Given the description of an element on the screen output the (x, y) to click on. 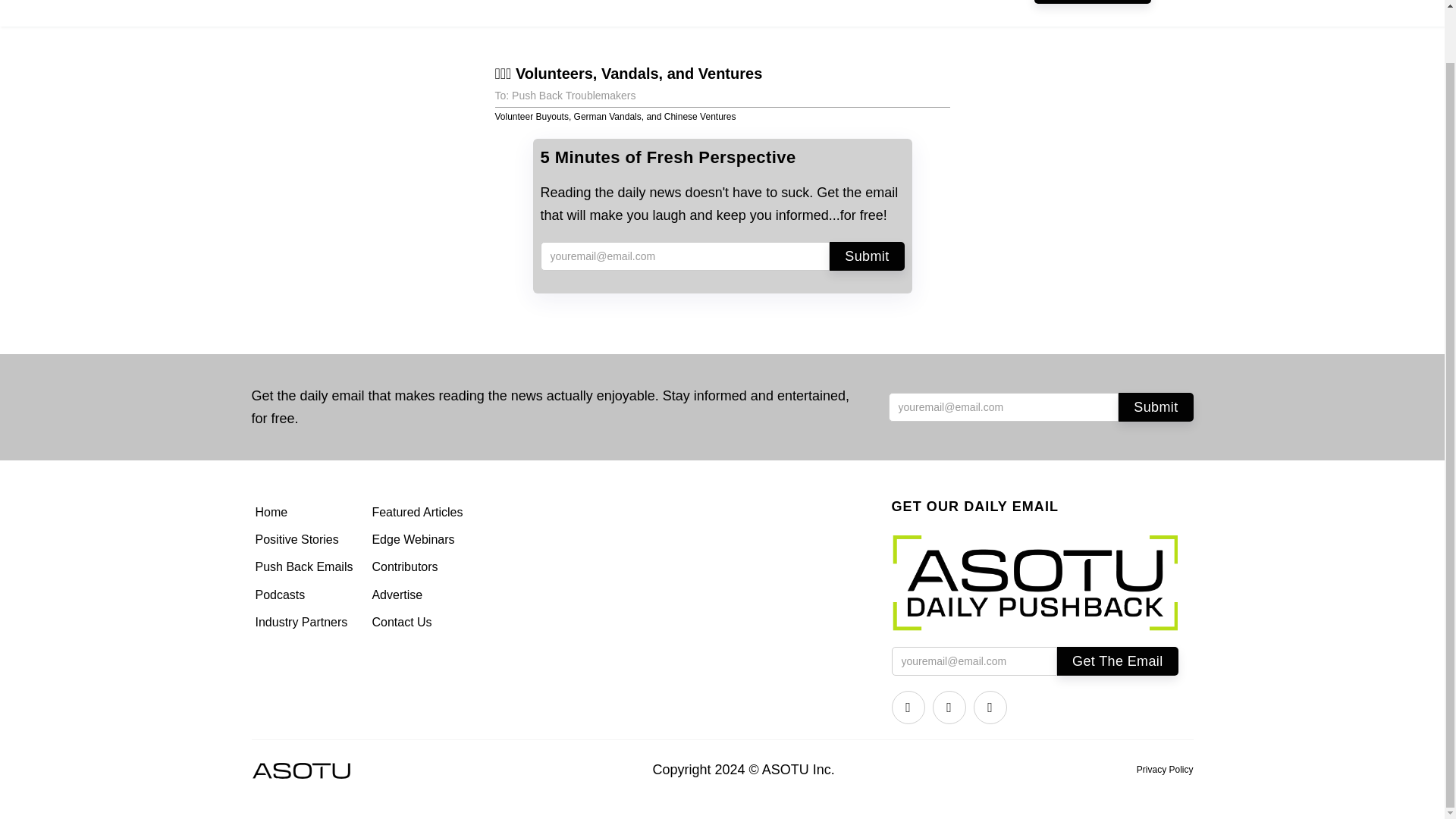
ASOTU CON (657, 5)
Contact Us (419, 622)
Podcasts (306, 595)
Industry Partners (306, 622)
Advertise (419, 595)
Submit (866, 256)
Contributors (419, 566)
Get The Email (1117, 661)
Edge Webinars (419, 539)
Get The Email (1117, 661)
Submit (866, 256)
Submit (1155, 407)
Positive Stories (306, 539)
Privacy Policy (1165, 769)
Featured Articles (419, 512)
